Given the description of an element on the screen output the (x, y) to click on. 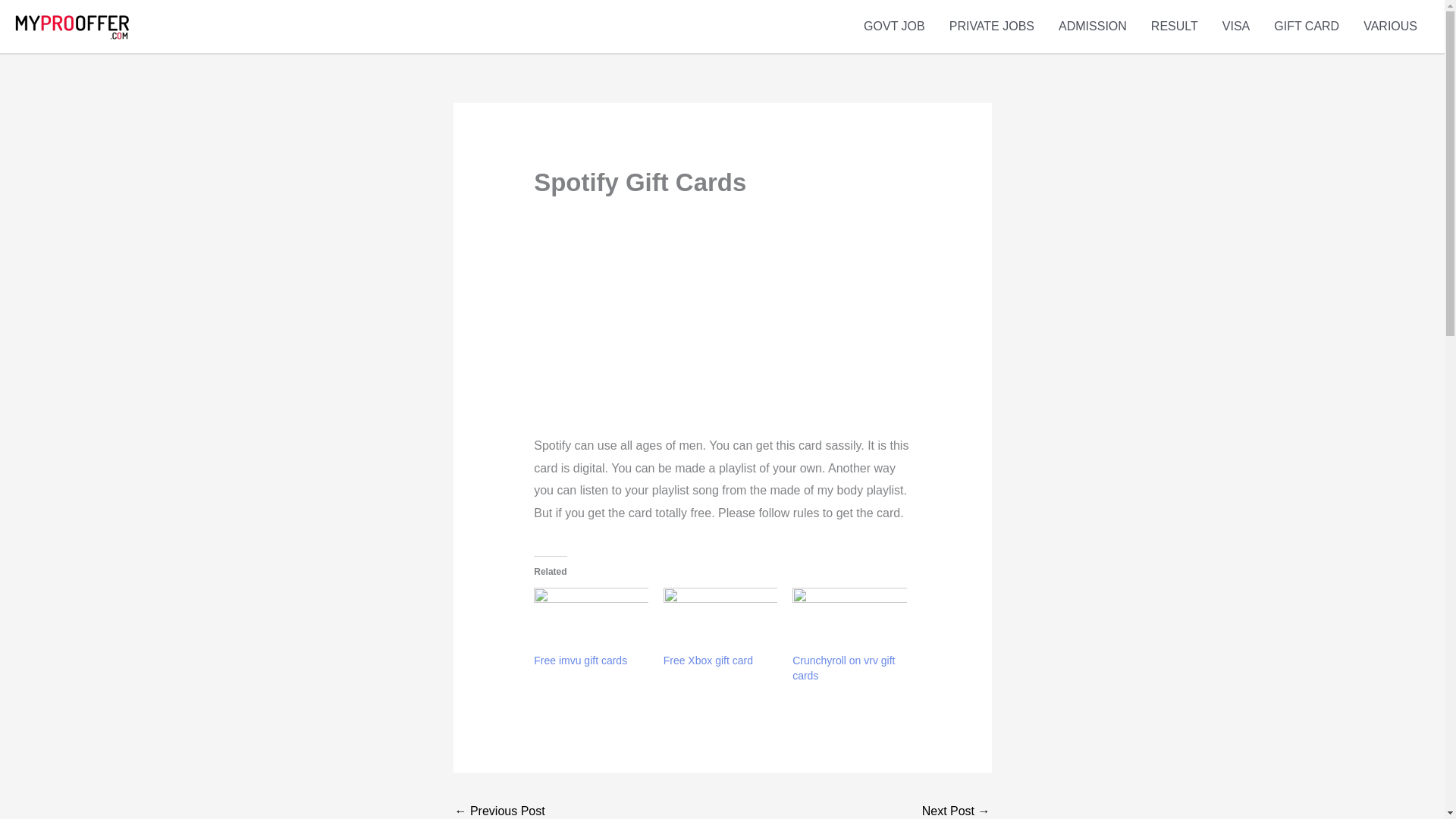
RESULT (1173, 26)
ADMISSION (1092, 26)
Free Steam game cards (955, 808)
PRIVATE JOBS (991, 26)
Free Xbox gift card (707, 660)
Advertisement (716, 327)
GOVT JOB (894, 26)
Free Xbox gift card (720, 620)
Free Xbox gift card (707, 660)
Free imvu gift cards (580, 660)
VISA (1235, 26)
VARIOUS (1390, 26)
Crunchyroll on vrv gift cards (848, 620)
Crunchyroll on vrv gift cards (843, 667)
GIFT CARD (1306, 26)
